Given the description of an element on the screen output the (x, y) to click on. 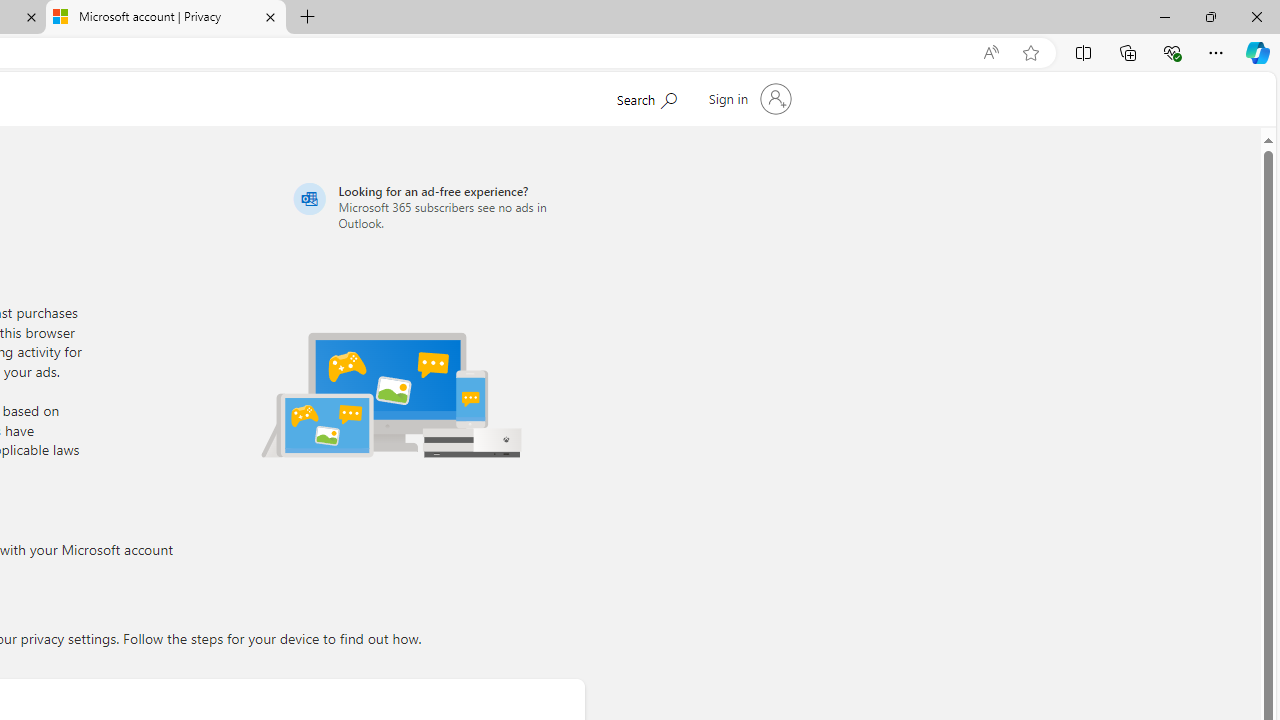
Search Microsoft.com (646, 97)
Illustration of multiple devices (391, 394)
Sign in to your account (748, 98)
